Given the description of an element on the screen output the (x, y) to click on. 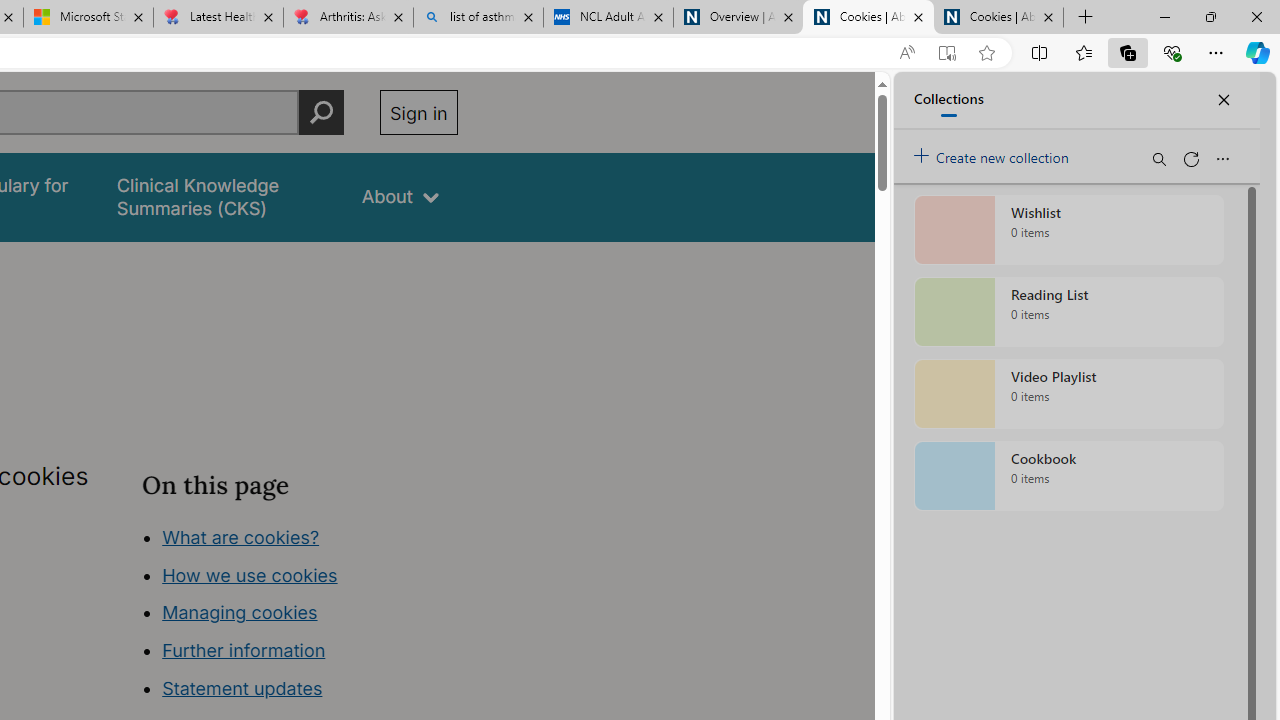
How we use cookies (249, 574)
list of asthma inhalers uk - Search (477, 17)
Cookies | About | NICE (998, 17)
About (400, 196)
About (400, 196)
Arthritis: Ask Health Professionals (348, 17)
Class: in-page-nav__list (299, 615)
